Given the description of an element on the screen output the (x, y) to click on. 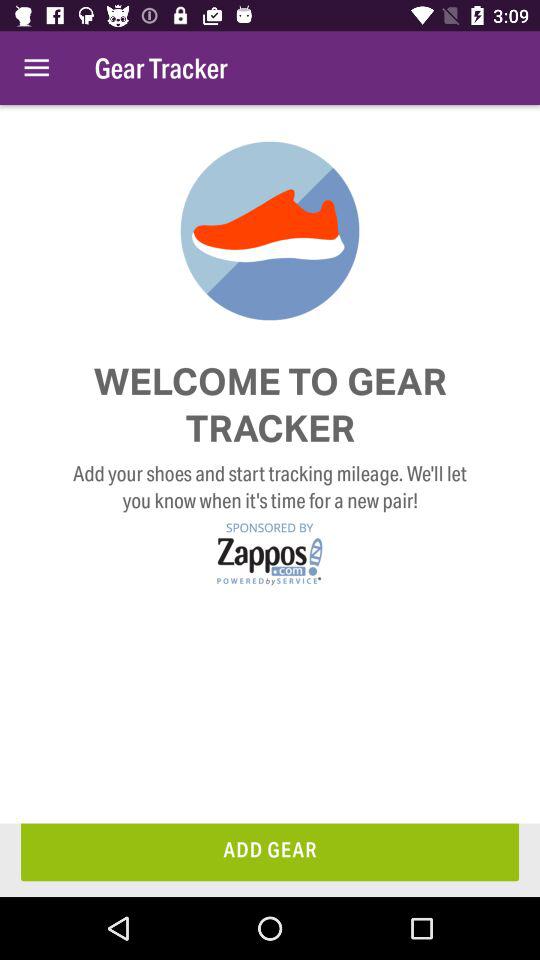
tap item next to gear tracker icon (36, 68)
